Given the description of an element on the screen output the (x, y) to click on. 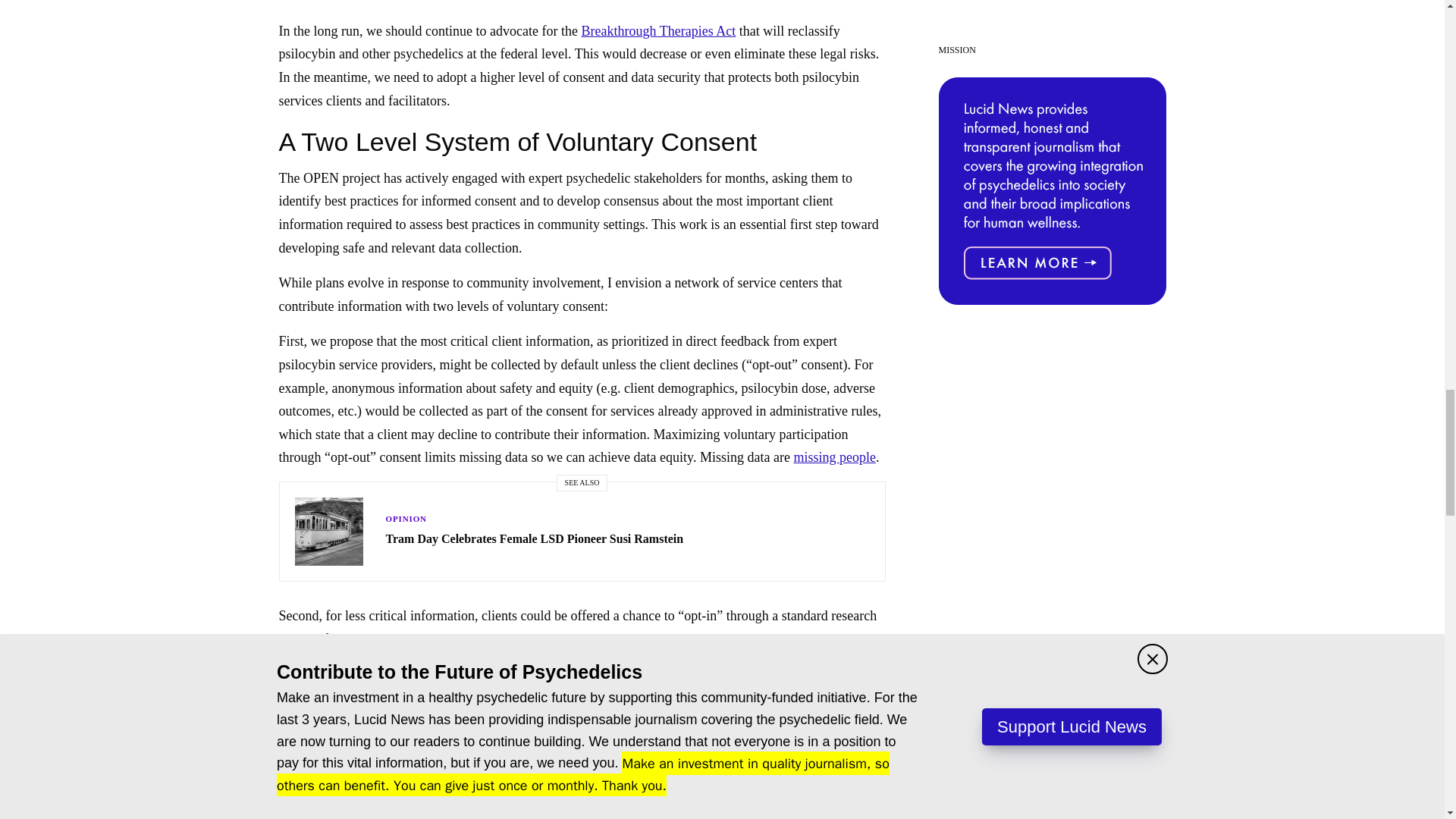
Tram Day Celebrates Female LSD Pioneer Susi Ramstein (533, 538)
